Given the description of an element on the screen output the (x, y) to click on. 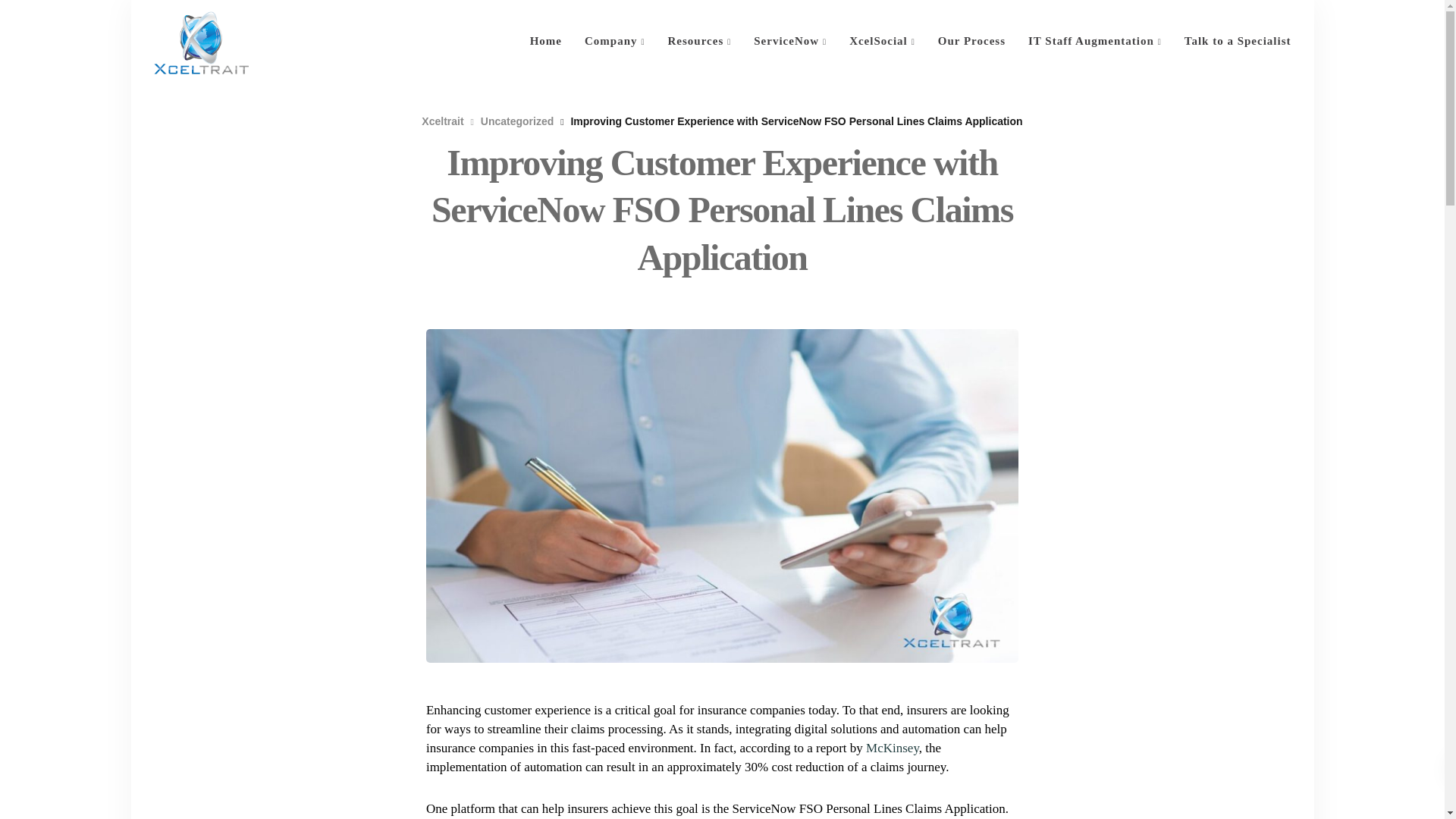
IT Staff Augmentation (1094, 41)
Resources (699, 41)
ServiceNow (790, 41)
McKinsey (892, 748)
Uncategorized (516, 121)
ServiceNow (790, 41)
Our Process (971, 41)
XcelSocial (882, 41)
XcelSocial (882, 41)
Resources (699, 41)
Home (545, 41)
Company (614, 41)
Home (545, 41)
Company (614, 41)
Xceltrait (442, 121)
